Given the description of an element on the screen output the (x, y) to click on. 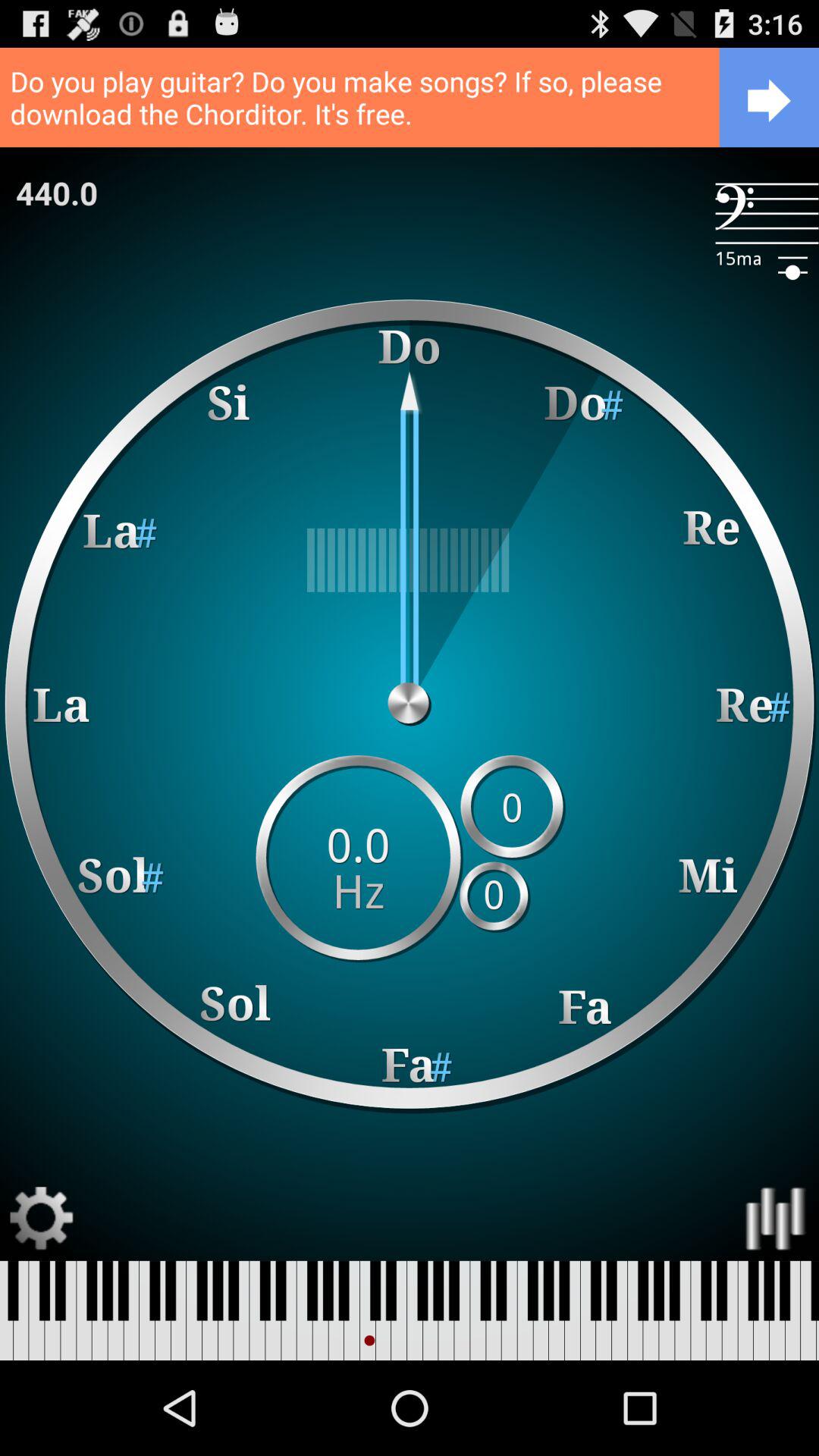
select icon below c a r app (409, 560)
